Given the description of an element on the screen output the (x, y) to click on. 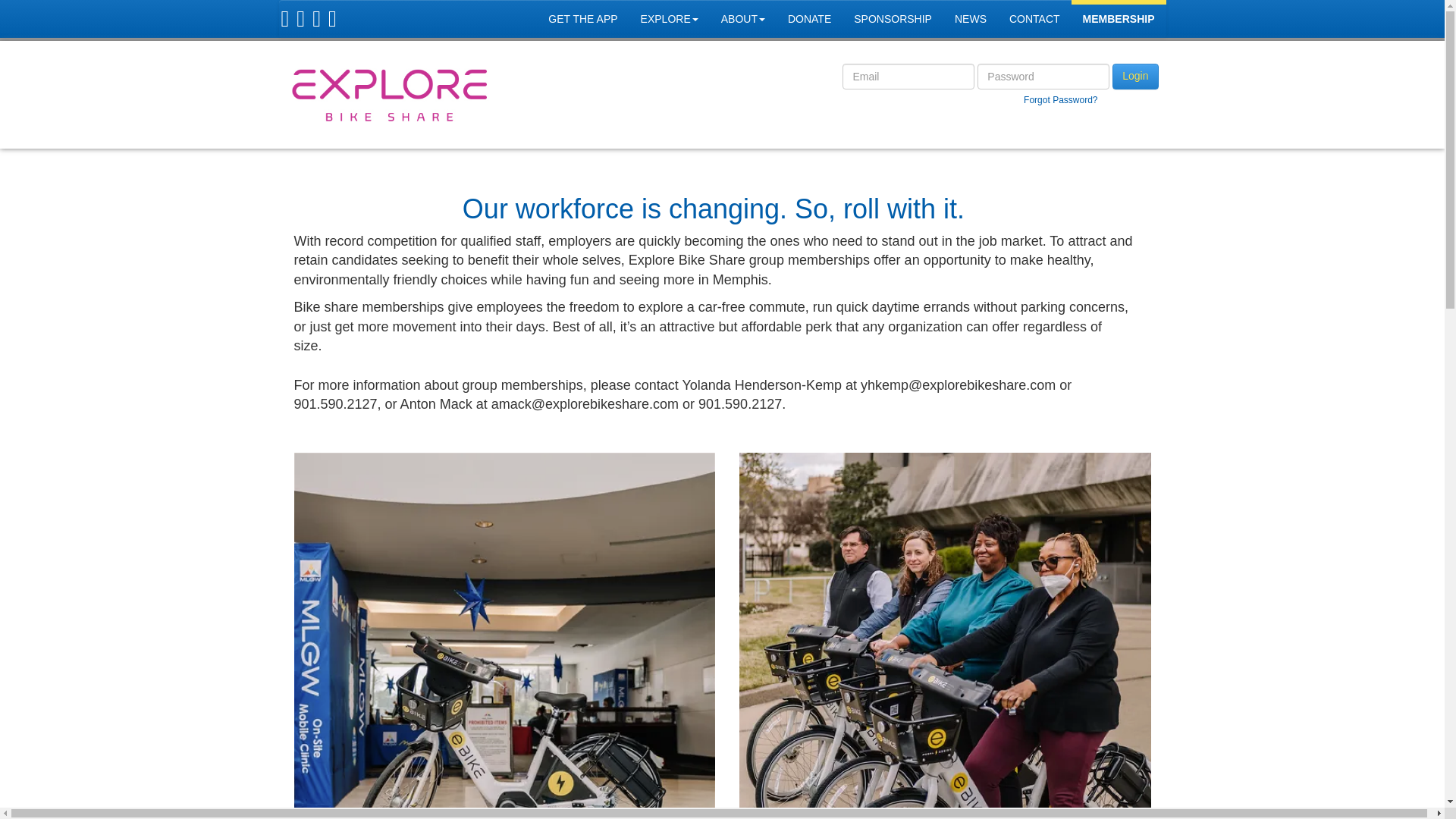
MEMBERSHIP (1118, 18)
NEWS (970, 18)
ExploreLogo (389, 94)
EXPLORE (669, 18)
GET THE APP (582, 18)
CONTACT (1034, 18)
SPONSORSHIP (893, 18)
ABOUT (743, 18)
Login (1134, 76)
